Given the description of an element on the screen output the (x, y) to click on. 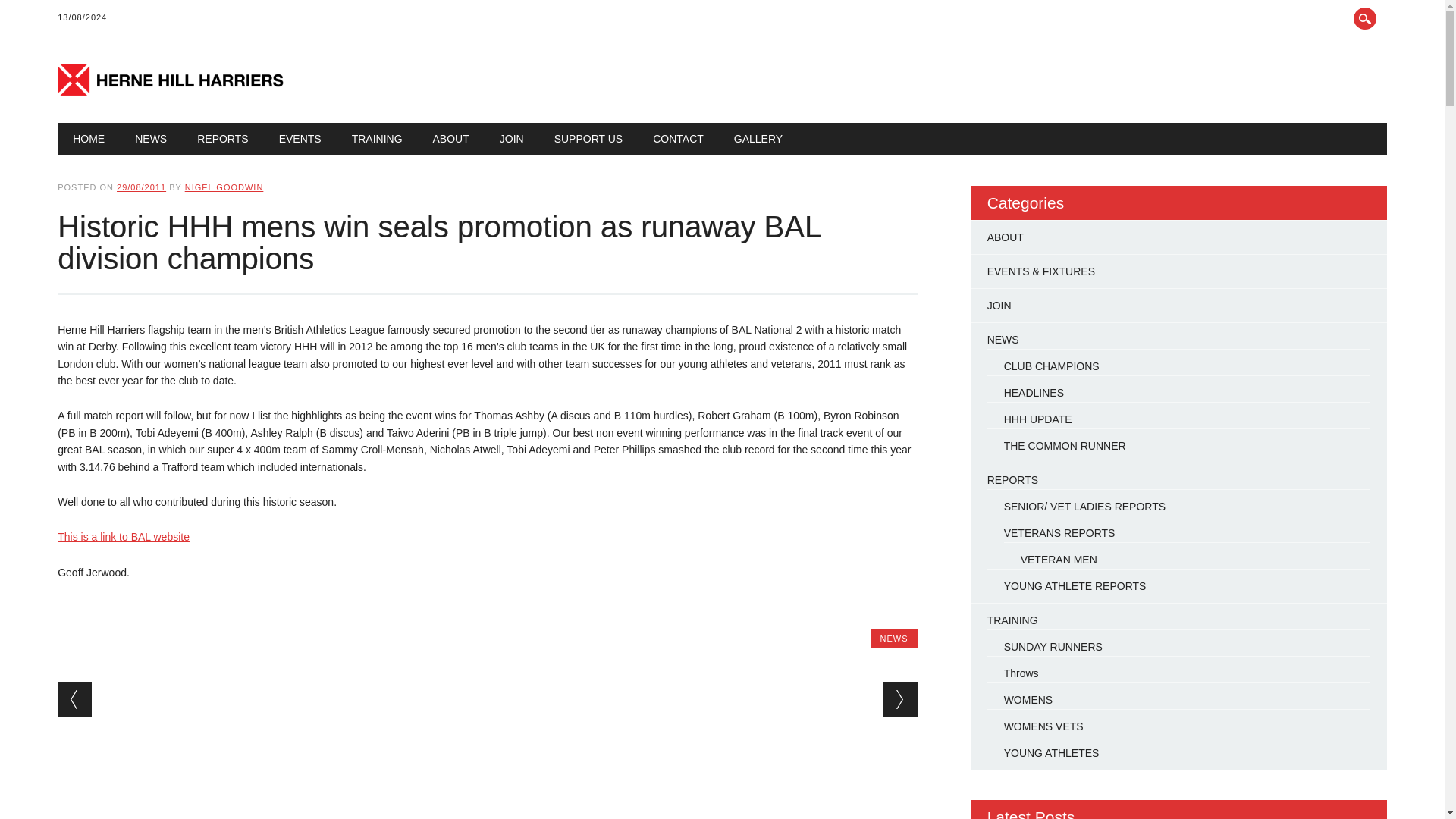
View all posts by Nigel Goodwin (223, 186)
REPORTS (222, 138)
EVENTS (299, 138)
Herne Hill Harriers (171, 91)
ABOUT (450, 138)
HOME (88, 138)
TRAINING (376, 138)
NEWS (150, 138)
3:09 pm (140, 186)
